Given the description of an element on the screen output the (x, y) to click on. 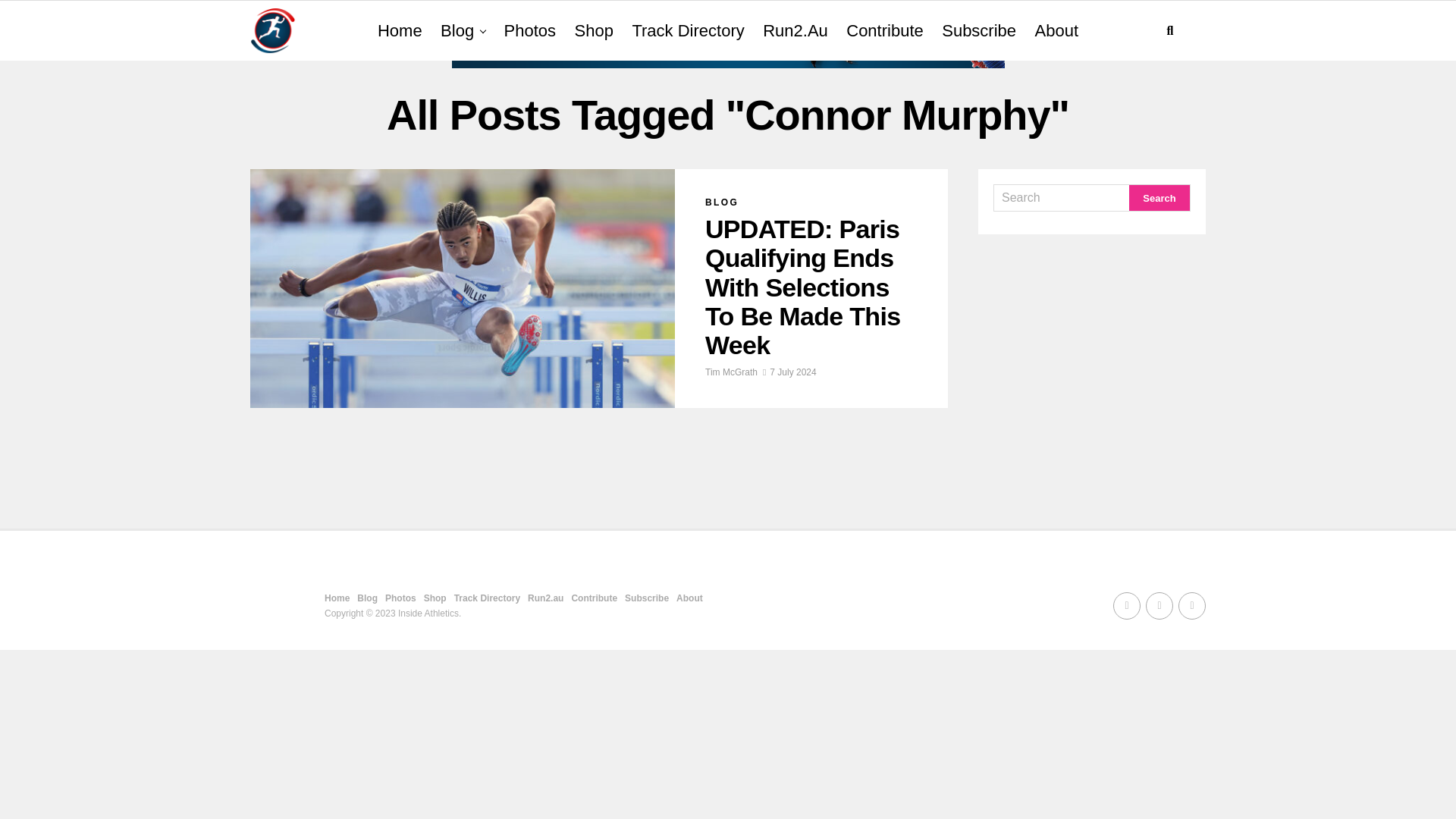
Search (1061, 197)
Track Directory (687, 30)
Contribute (884, 30)
Search (1159, 197)
Shop (434, 597)
About (1056, 30)
Blog (366, 597)
Run2.Au (795, 30)
Photos (400, 597)
Tim McGrath (730, 371)
Search (1159, 197)
Home (399, 30)
Home (336, 597)
Posts by Tim McGrath (730, 371)
Subscribe (978, 30)
